Given the description of an element on the screen output the (x, y) to click on. 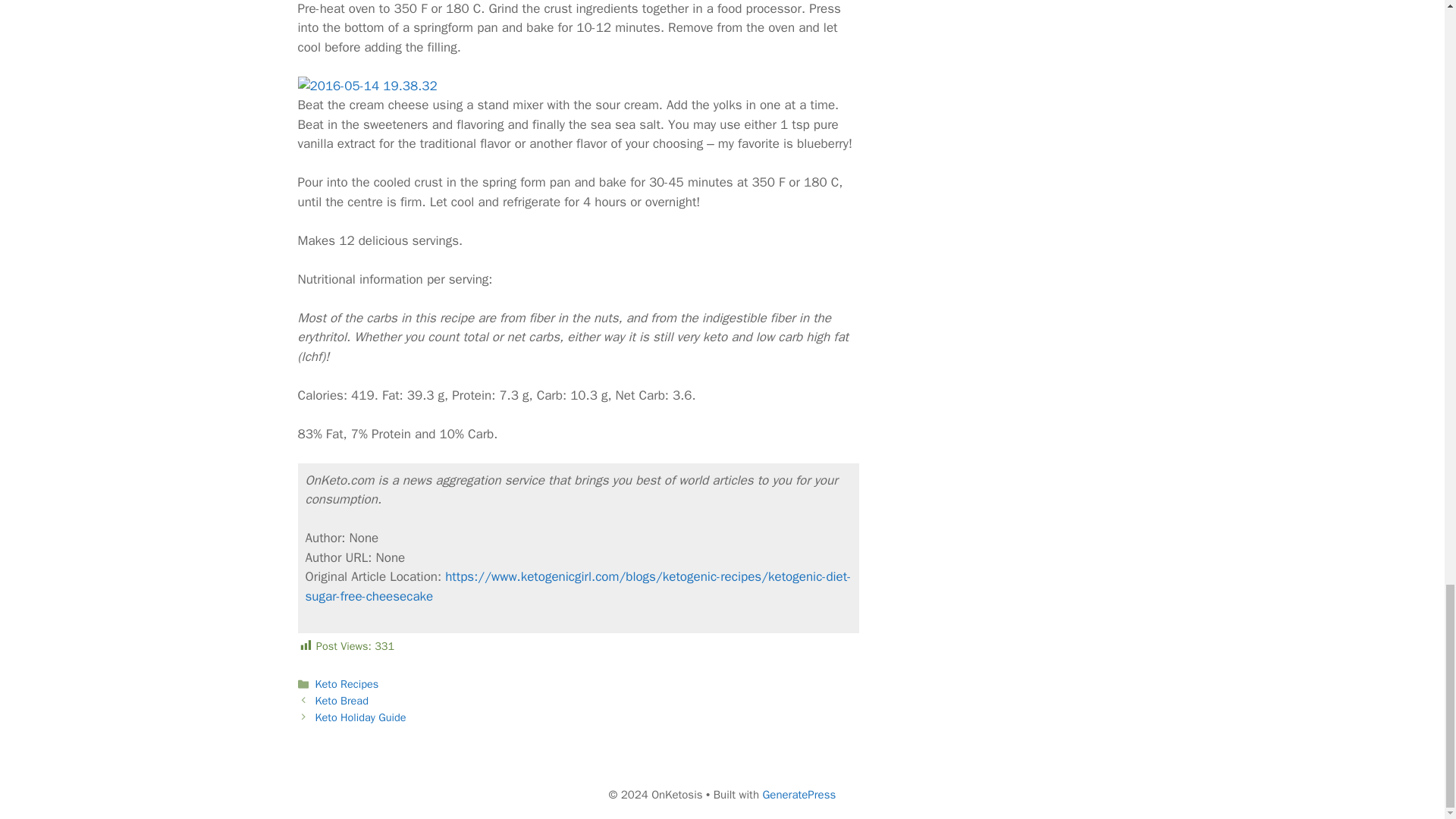
Keto Holiday Guide (360, 716)
Keto Bread (341, 700)
Keto Recipes (346, 684)
GeneratePress (798, 794)
